Given the description of an element on the screen output the (x, y) to click on. 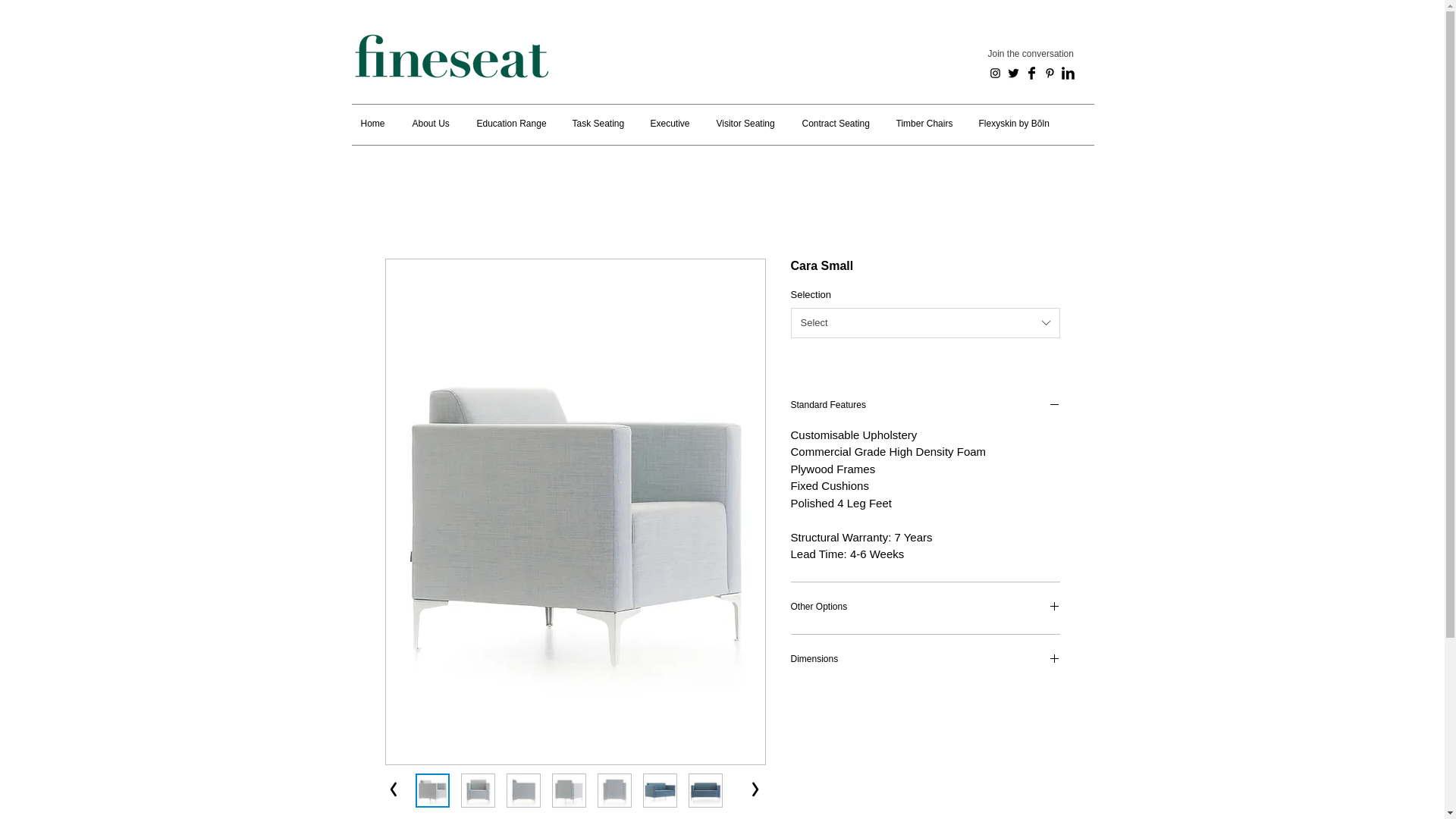
Timber Chairs (926, 123)
Dimensions (924, 660)
Executive (673, 123)
Standard Features (924, 406)
Home (375, 123)
Other Options (924, 607)
Visitor Seating (749, 123)
Select (924, 322)
Education Range (514, 123)
Contract Seating (838, 123)
